Given the description of an element on the screen output the (x, y) to click on. 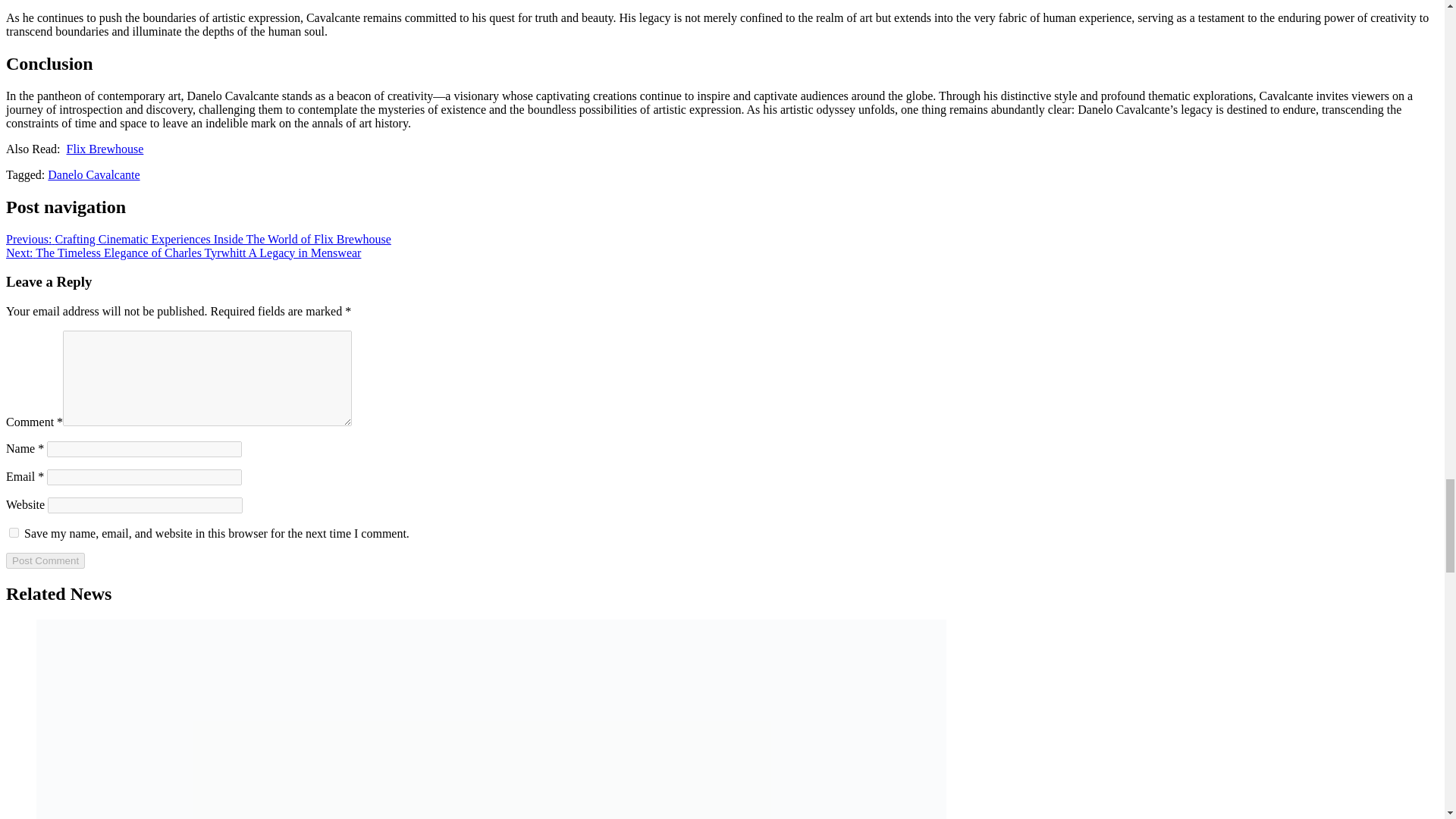
Post Comment (44, 560)
yes (13, 532)
